Given the description of an element on the screen output the (x, y) to click on. 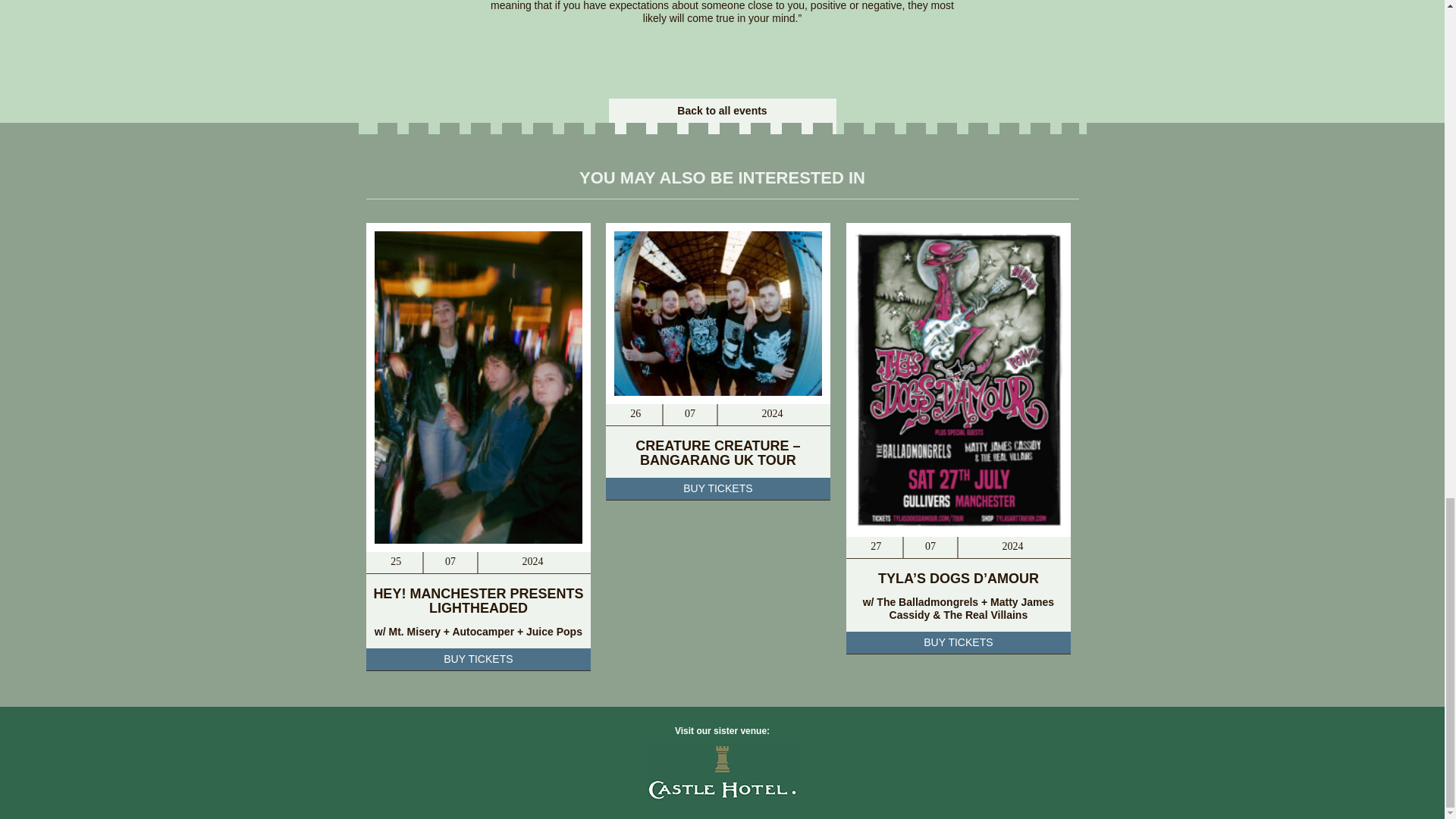
HEY! MANCHESTER PRESENTS LIGHTHEADED (477, 600)
BUY TICKETS (958, 642)
BUY TICKETS (478, 659)
Back to all events (722, 110)
BUY TICKETS (717, 488)
